Given the description of an element on the screen output the (x, y) to click on. 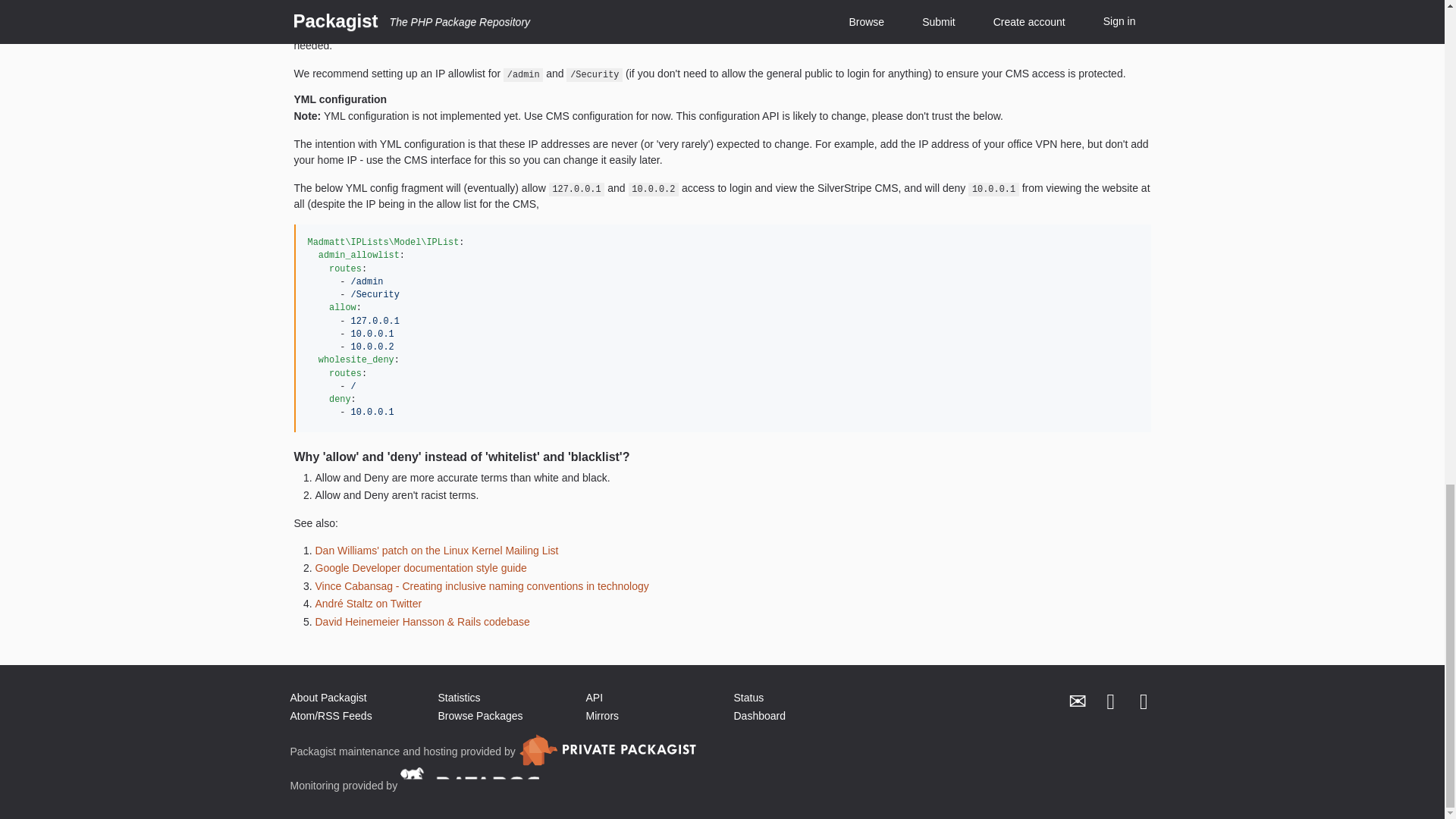
GitHub (1143, 702)
Contact (1078, 702)
